Given the description of an element on the screen output the (x, y) to click on. 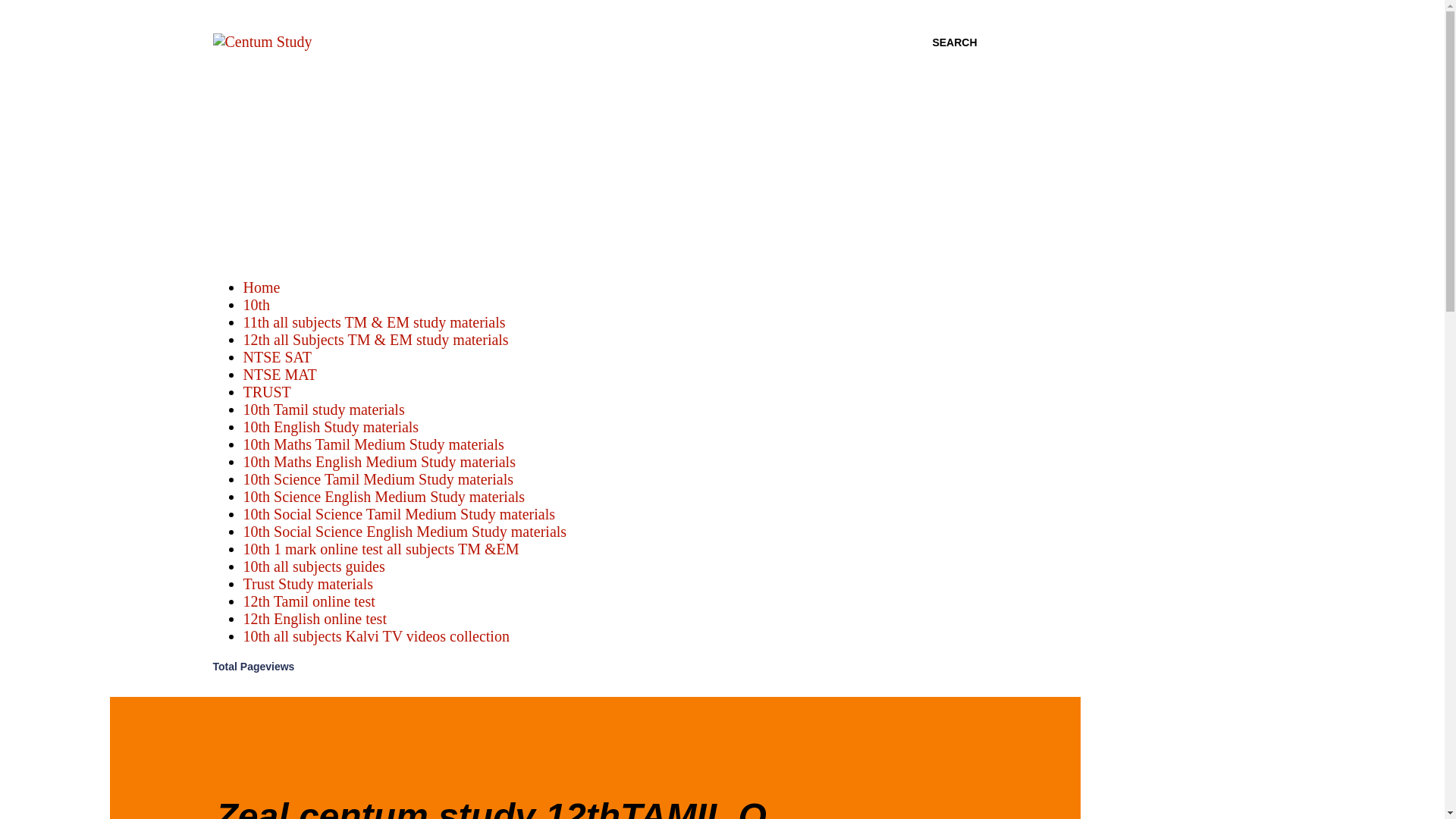
10th Maths English Medium Study materials (379, 461)
10th Social Science Tamil Medium Study materials (398, 514)
NTSE MAT (279, 374)
10th Maths Tamil Medium Study materials (373, 443)
10th Social Science English Medium Study materials (404, 531)
Home (261, 287)
TRUST (266, 392)
10th all subjects Kalvi TV videos collection (375, 636)
NTSE SAT (277, 356)
Trust Study materials (307, 583)
10th Science English Medium Study materials (383, 496)
12th English online test (314, 618)
10th all subjects guides (313, 565)
10th Science Tamil Medium Study materials (378, 478)
12th Tamil online test (308, 600)
